Given the description of an element on the screen output the (x, y) to click on. 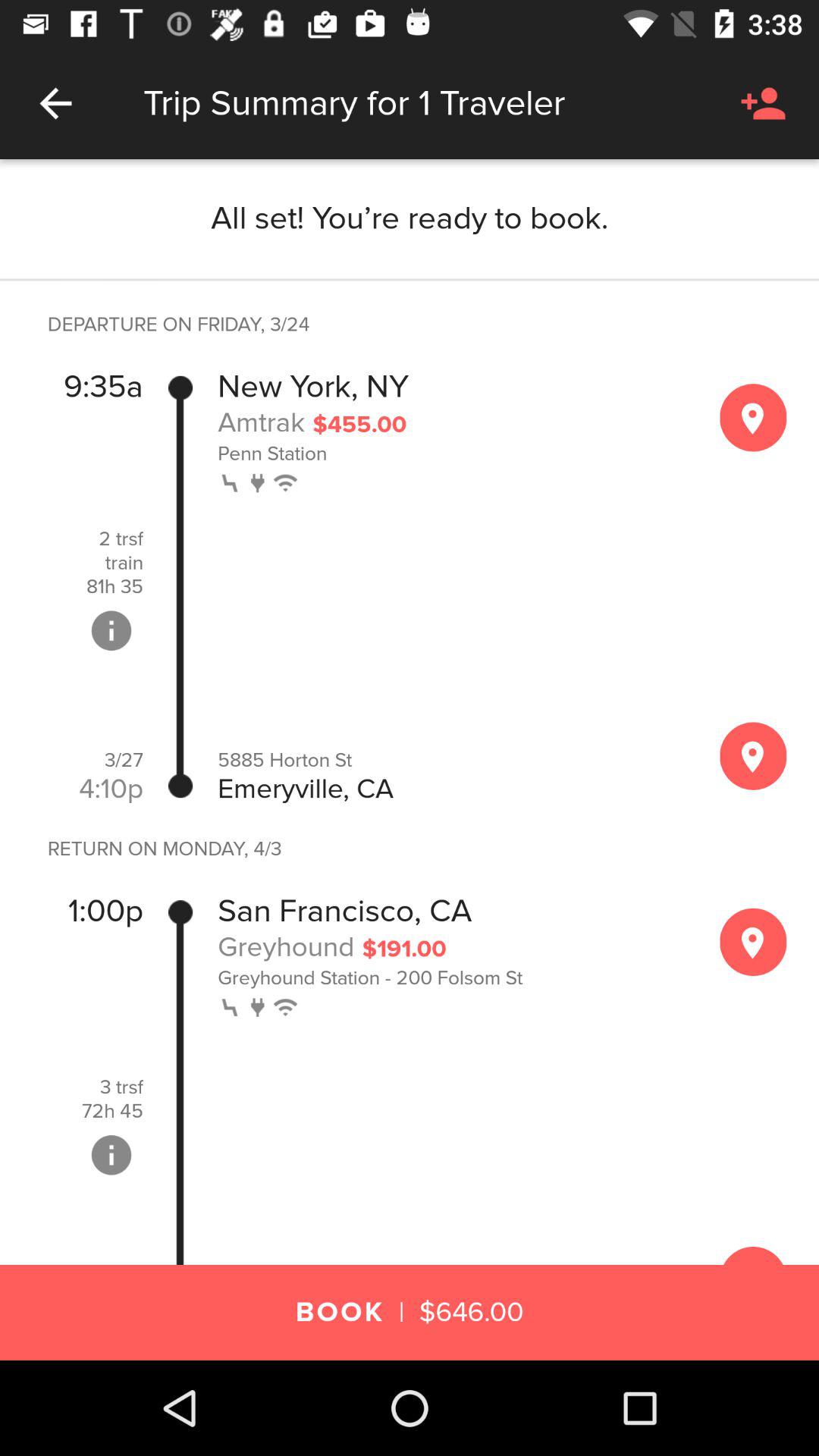
open icon below the 4:10p item (156, 849)
